Given the description of an element on the screen output the (x, y) to click on. 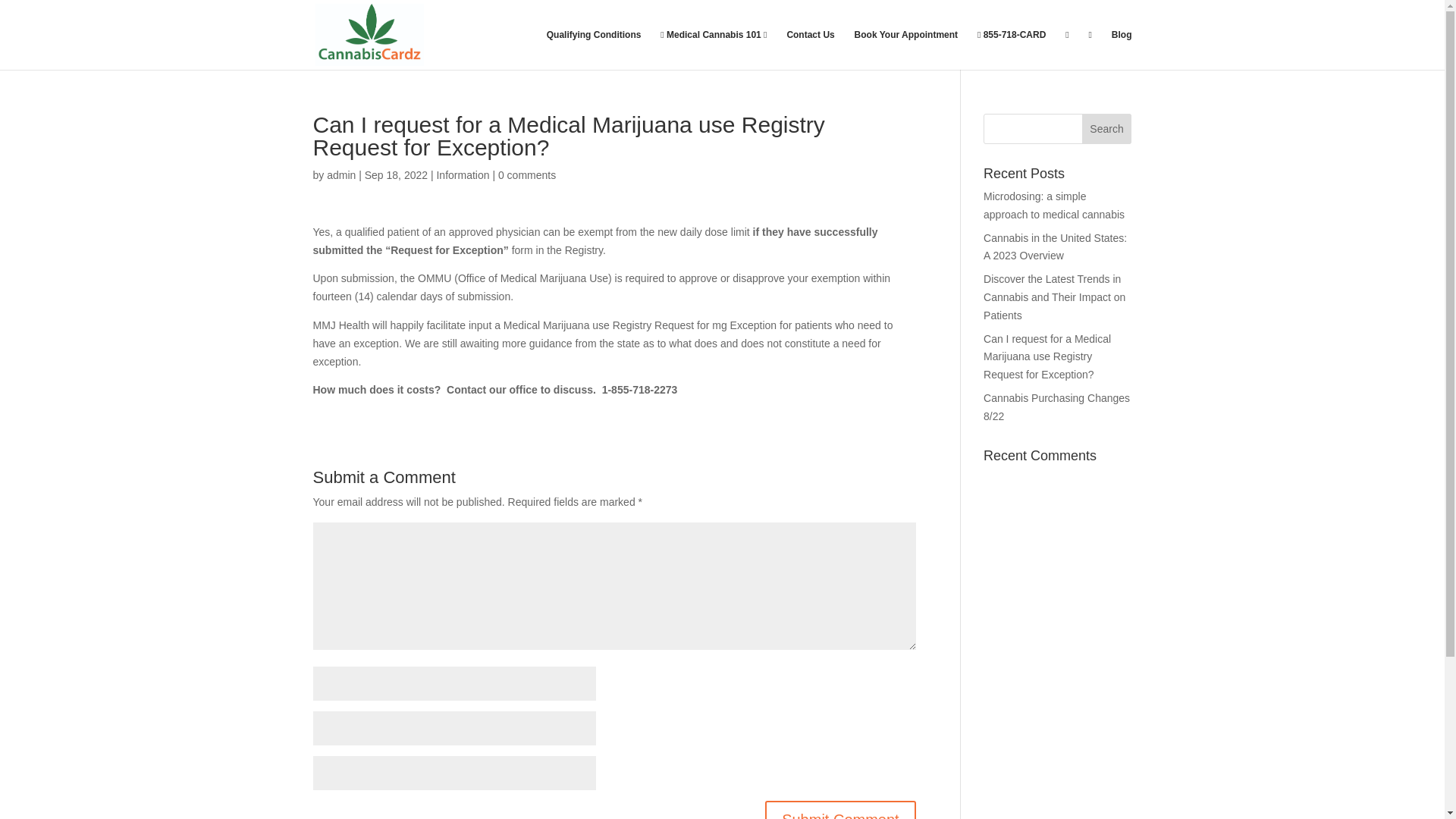
Search (1106, 128)
Information (462, 174)
Microdosing: a simple approach to medical cannabis (1054, 205)
Book Your Appointment (906, 49)
Contact Us (810, 49)
Search (1106, 128)
Medical Cannabis 101 (714, 49)
Qualifying Conditions (594, 49)
Submit Comment (840, 809)
admin (340, 174)
855-718-CARD (1010, 49)
Submit Comment (840, 809)
Cannabis in the United States: A 2023 Overview (1055, 246)
